Given the description of an element on the screen output the (x, y) to click on. 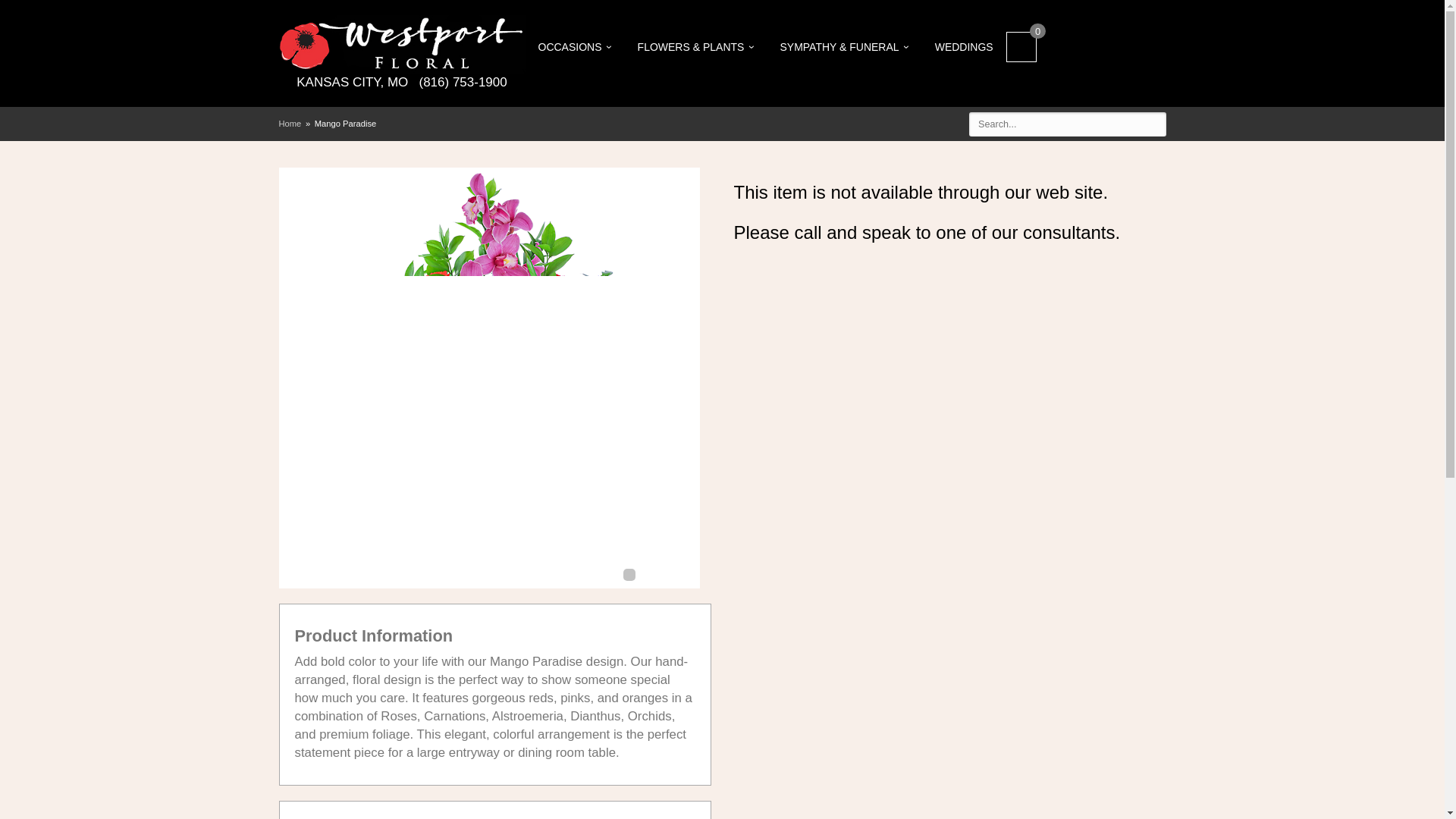
0 (1021, 46)
WEDDINGS (963, 46)
OCCASIONS (574, 46)
Home (290, 122)
